Given the description of an element on the screen output the (x, y) to click on. 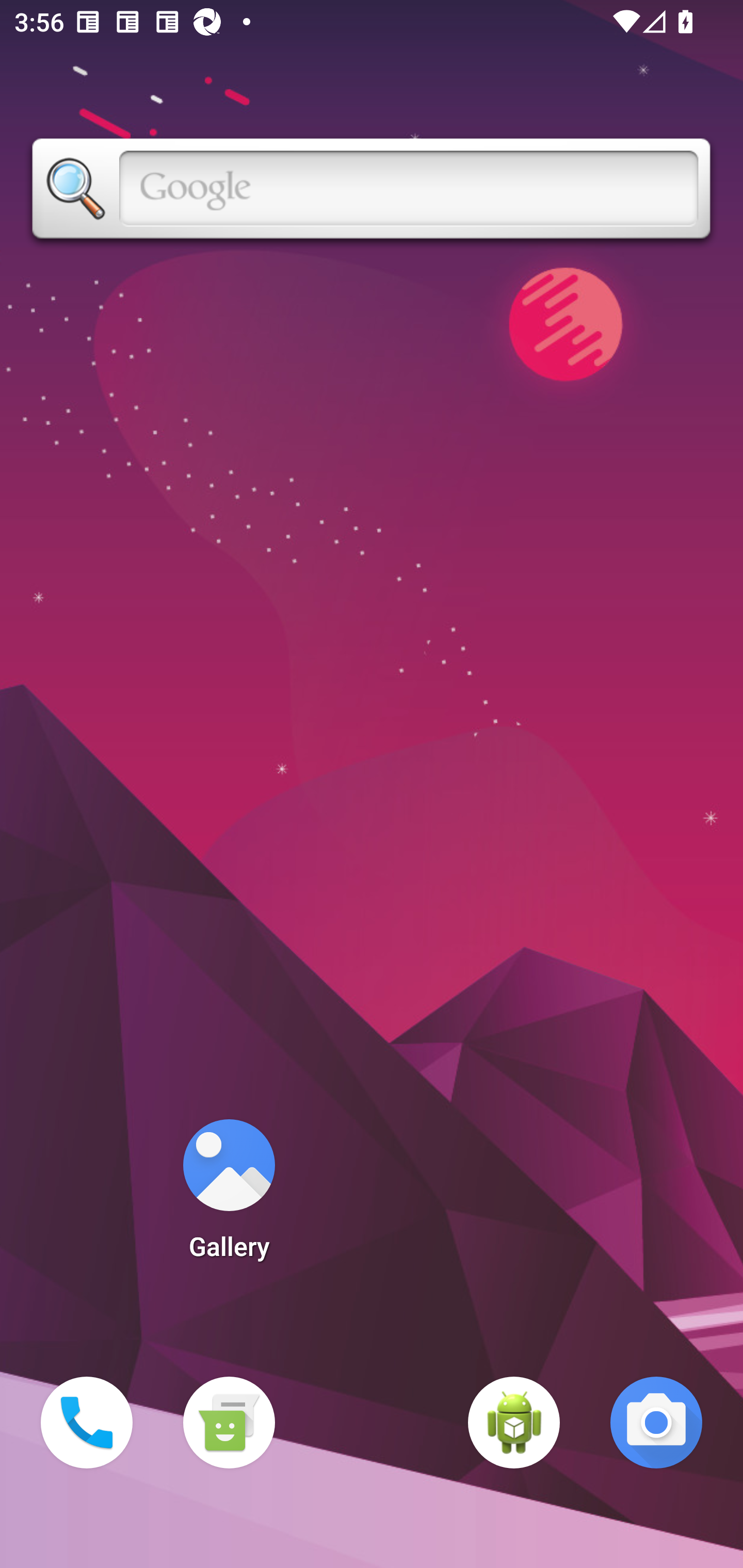
Gallery (228, 1195)
Phone (86, 1422)
Messaging (228, 1422)
WebView Browser Tester (513, 1422)
Camera (656, 1422)
